Given the description of an element on the screen output the (x, y) to click on. 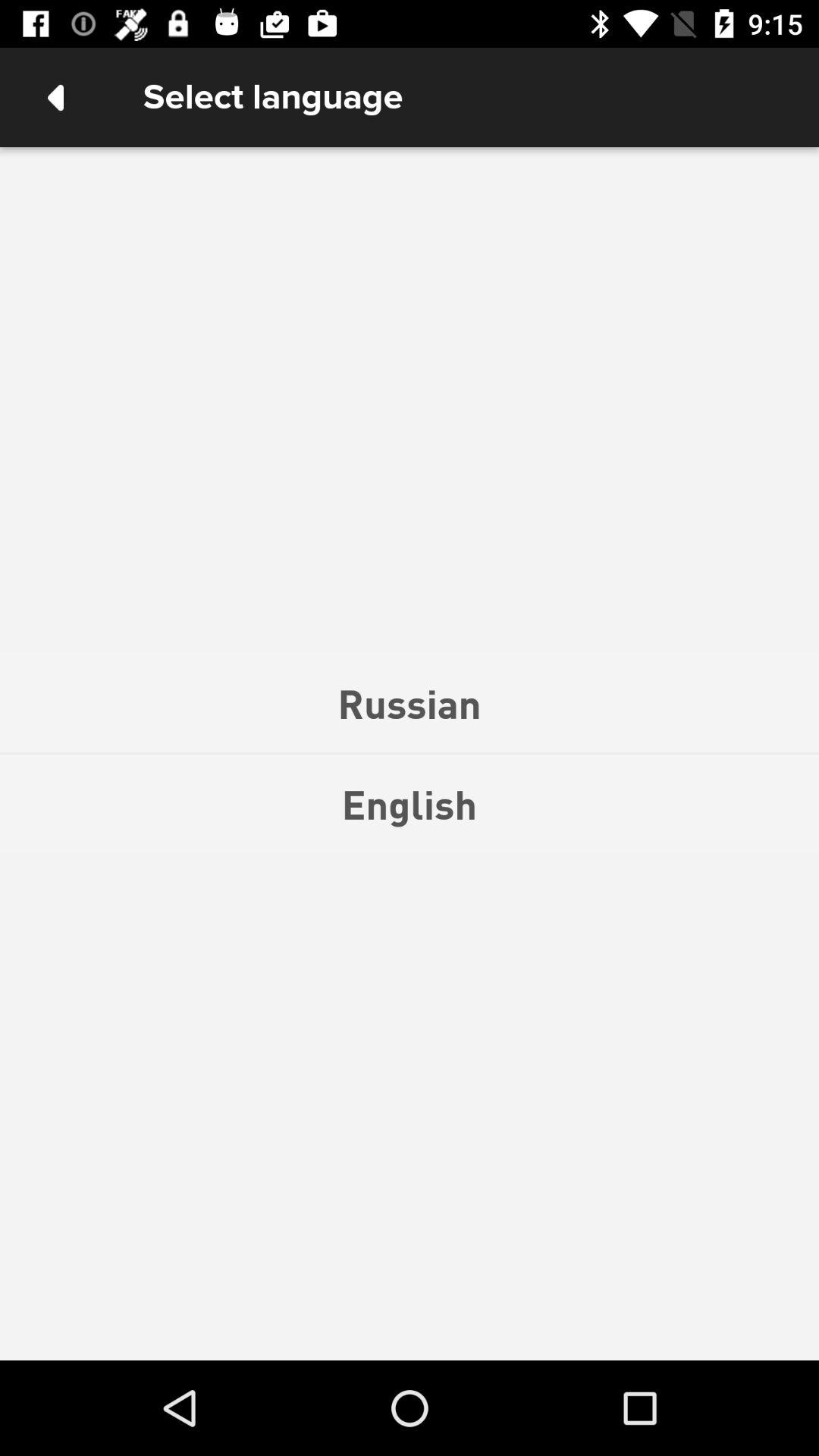
choose icon below the russian (409, 803)
